Given the description of an element on the screen output the (x, y) to click on. 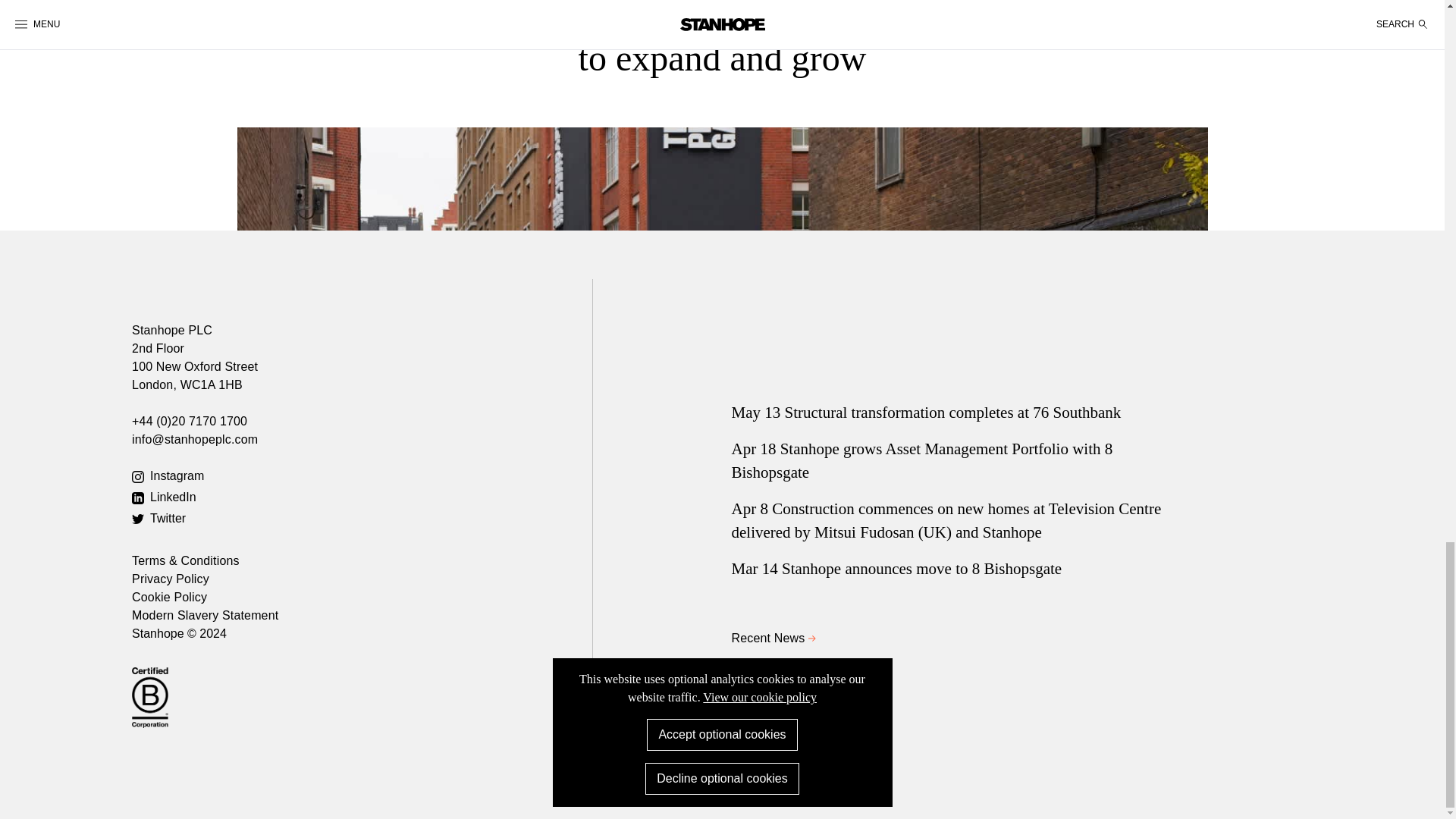
Privacy Policy (170, 578)
May 13 Structural transformation completes at 76 Southbank (961, 413)
Recent News (961, 638)
Twitter (362, 518)
Cookie Policy (169, 596)
Instagram (362, 475)
Modern Slavery Statement (205, 615)
Mar 14 Stanhope announces move to 8 Bishopsgate (961, 569)
LinkedIn (362, 497)
